Given the description of an element on the screen output the (x, y) to click on. 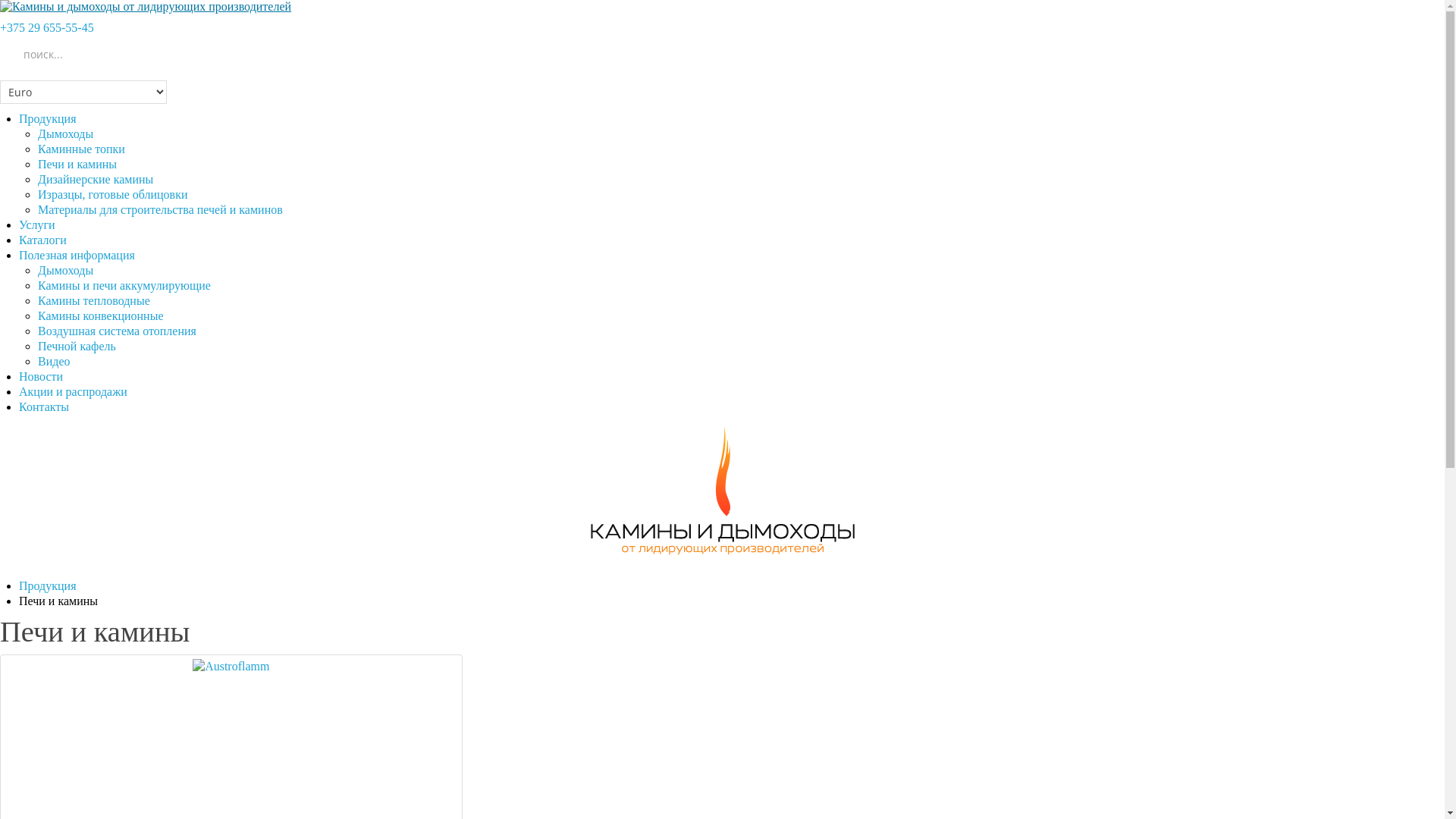
Austroflamm Element type: hover (230, 666)
+375 29 655-55-45 Element type: text (47, 27)
